Given the description of an element on the screen output the (x, y) to click on. 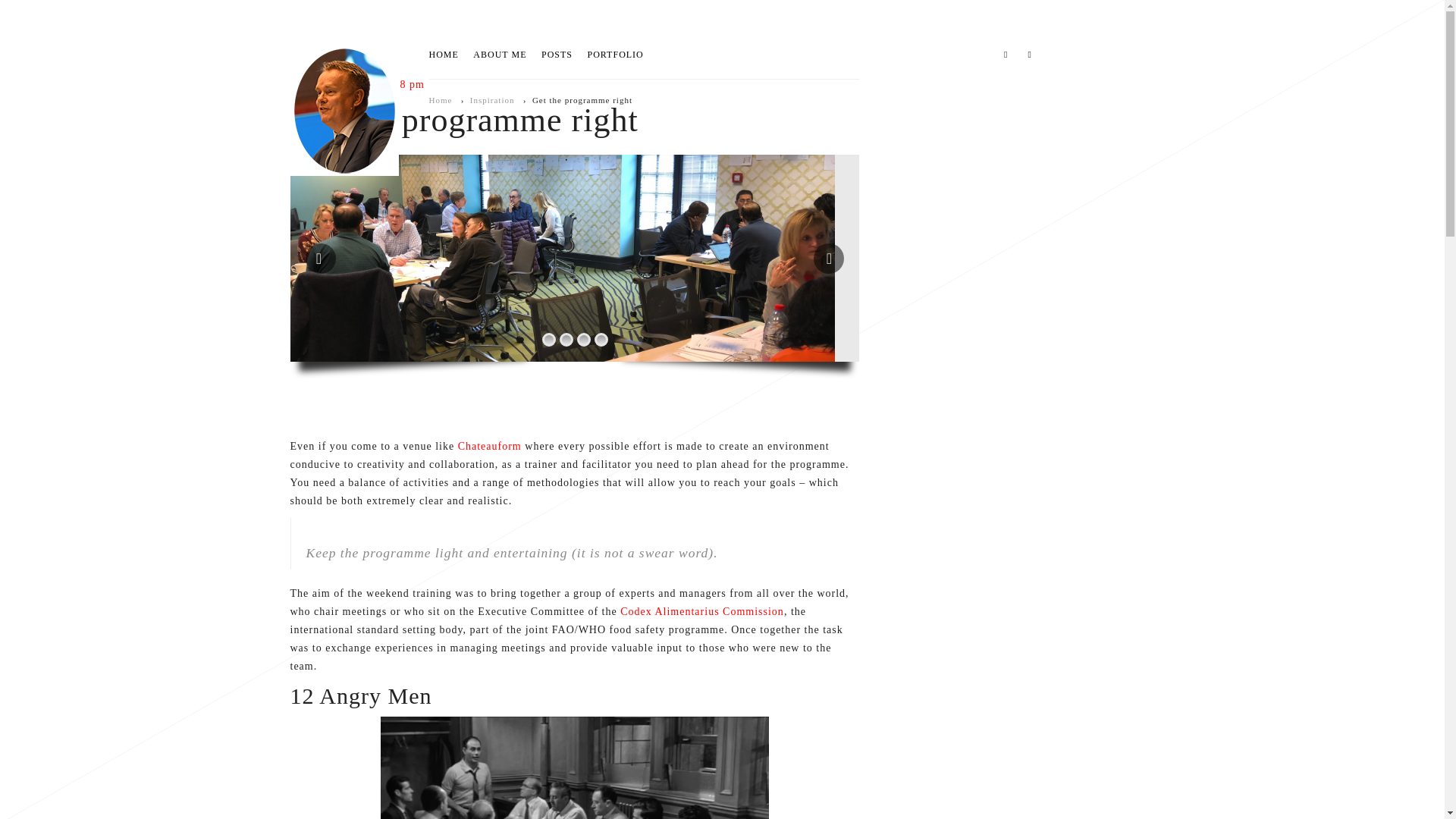
HOME (443, 54)
PORTFOLIO (614, 54)
Home (440, 99)
POSTS (556, 54)
Codex Alimentarius Commission (702, 611)
ABOUT ME (499, 54)
Inspiration (492, 99)
Chateauform (491, 446)
